Given the description of an element on the screen output the (x, y) to click on. 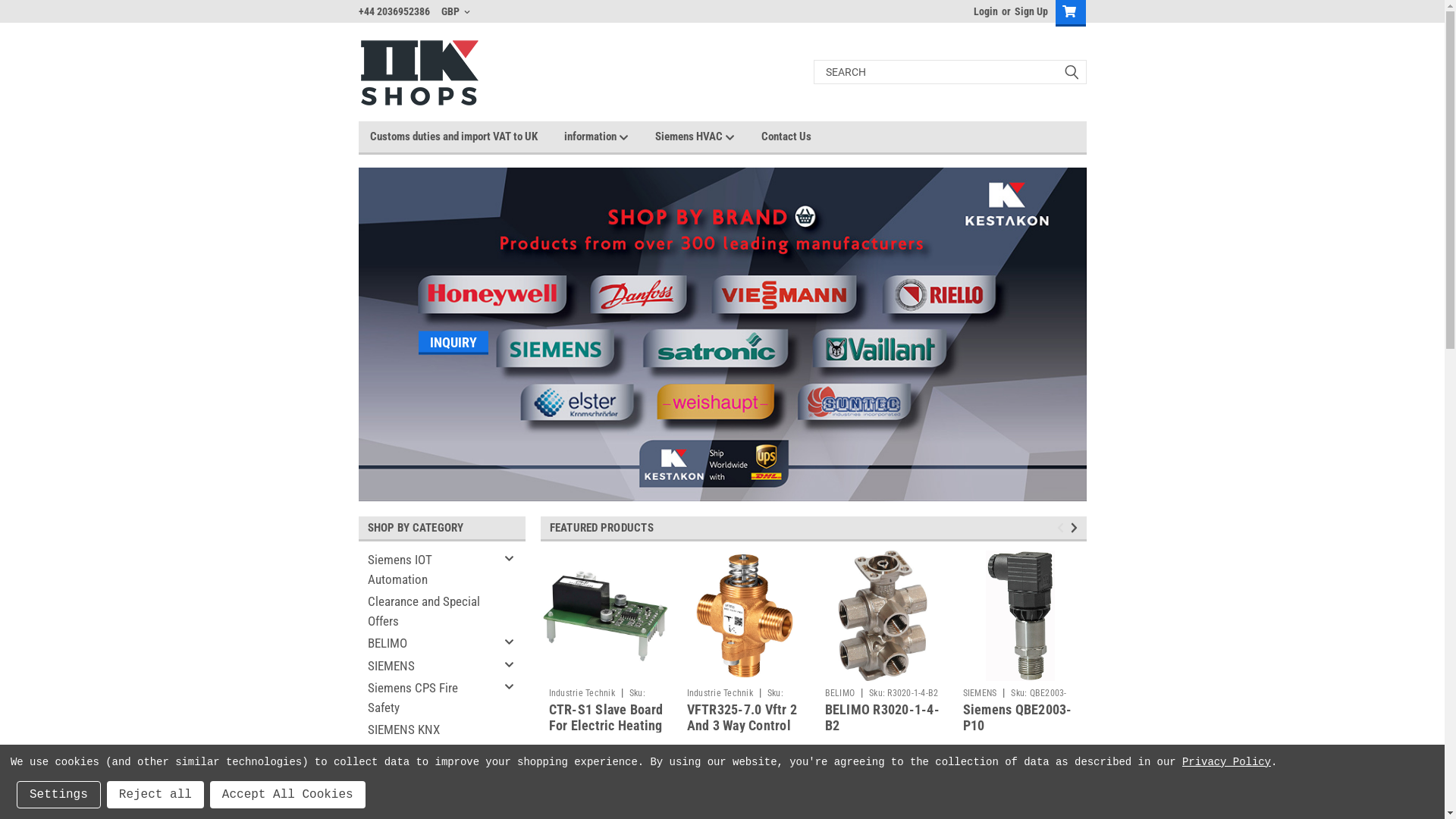
ADD TO CART Element type: text (882, 789)
VFTR325-7.0 Vftr 2 And 3 Way Control Valves P12246 Element type: text (742, 725)
HONEYWELL Element type: text (428, 774)
Clearance and Special Offers Element type: text (428, 611)
VFTR325-7.0 Vftr   2  And 3 Way Control Valves P12246 Element type: hover (744, 615)
Accept All Cookies Element type: text (287, 794)
Previous Element type: text (1062, 527)
CTR-S1 Slave Board For Electric Heating Controllers P12163 Element type: text (606, 725)
SIEMENS Element type: text (428, 666)
Siemens IOT Automation Element type: text (428, 569)
ADD TO CART Element type: text (606, 789)
SIEMENS KNX Element type: text (428, 729)
SIEMENS Element type: text (980, 692)
Sku: QBE2003-P10 Element type: text (1014, 700)
BELIMO Element type: text (840, 692)
Customs duties and import VAT to UK Element type: text (467, 136)
Reject all Element type: text (154, 794)
CTR-S1 Slave Board For Electric Heating Controllers P12163 Element type: hover (606, 615)
2kshops Heating and Cooling (HVAC) supplies Element type: hover (418, 71)
Siemens QBE2003-P10 Element type: text (1017, 717)
Sku: Element type: text (597, 700)
Sku: Element type: text (735, 700)
GBP Element type: text (455, 11)
Settings Element type: text (58, 794)
Contact Us Element type: text (799, 136)
ADD TO CART Element type: text (744, 789)
submit Element type: hover (1070, 71)
BELIMO Element type: text (428, 643)
Login Element type: text (985, 11)
Industrie Technik Element type: text (582, 692)
ADD TO CART Element type: text (1020, 789)
Sku: R3020-1-4-B2 Element type: text (903, 692)
Industrie Technik Element type: text (428, 752)
BELIMO R3020-1-4-B2 Element type: text (882, 717)
Next Element type: text (1076, 527)
INQUIRY Element type: text (721, 334)
DUNGS Element type: text (428, 797)
Siemens HVAC Element type: text (708, 136)
Industrie Technik Element type: text (720, 692)
Privacy Policy Element type: text (1226, 762)
information Element type: text (609, 136)
Sign Up Element type: text (1028, 11)
Siemens CPS Fire Safety Element type: text (428, 697)
